Given the description of an element on the screen output the (x, y) to click on. 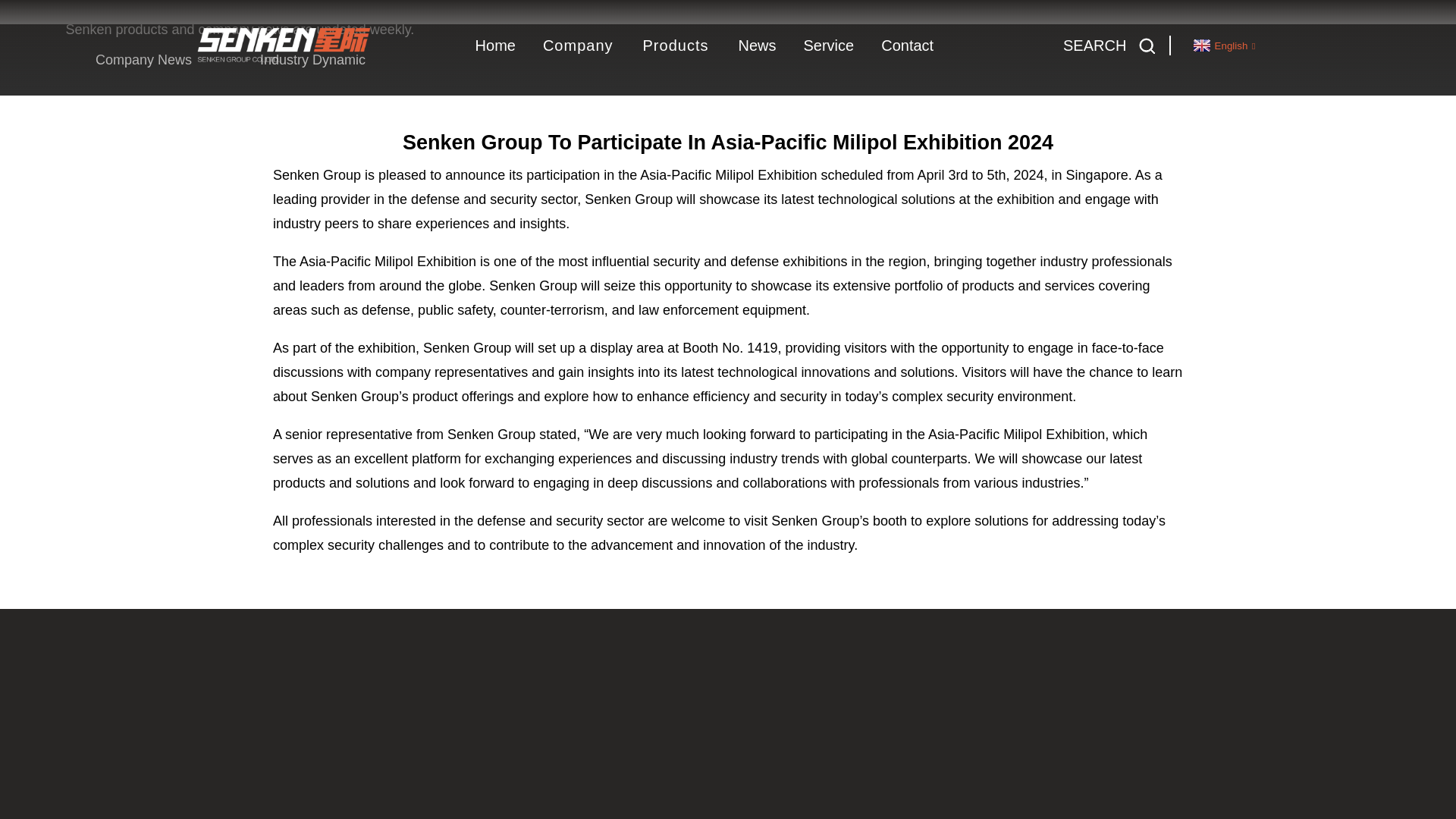
Industry Dynamic (312, 59)
Home (112, 3)
expand search field (1104, 45)
Company News (143, 59)
News (164, 3)
English (1222, 44)
